Given the description of an element on the screen output the (x, y) to click on. 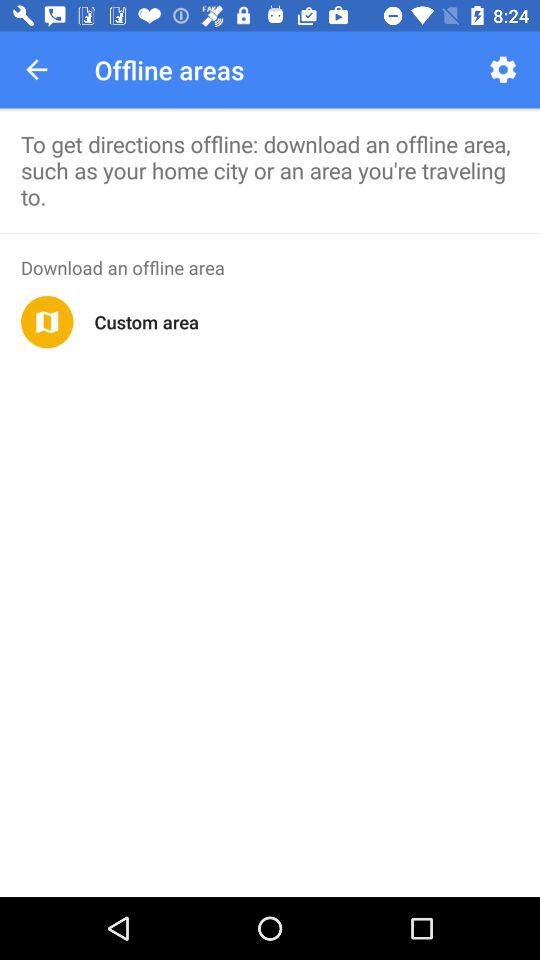
jump to to get directions (270, 170)
